Given the description of an element on the screen output the (x, y) to click on. 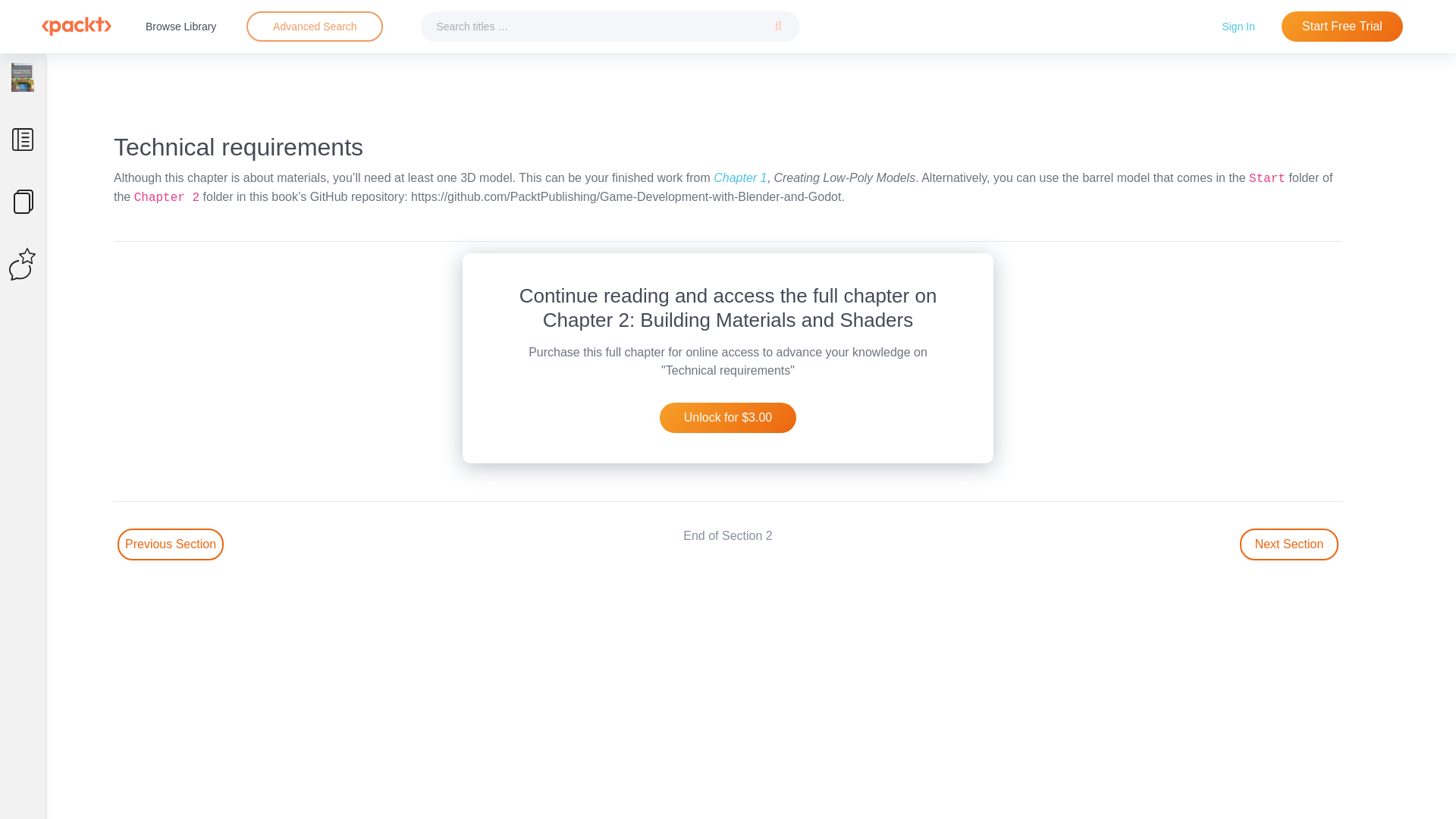
Sign In (1238, 26)
Advanced Search (314, 26)
Go to Previous section (170, 544)
Advanced search (314, 26)
Start Free Trial (1342, 26)
Browse Library (180, 26)
Advanced Search (315, 26)
Go to next section (1289, 544)
